Given the description of an element on the screen output the (x, y) to click on. 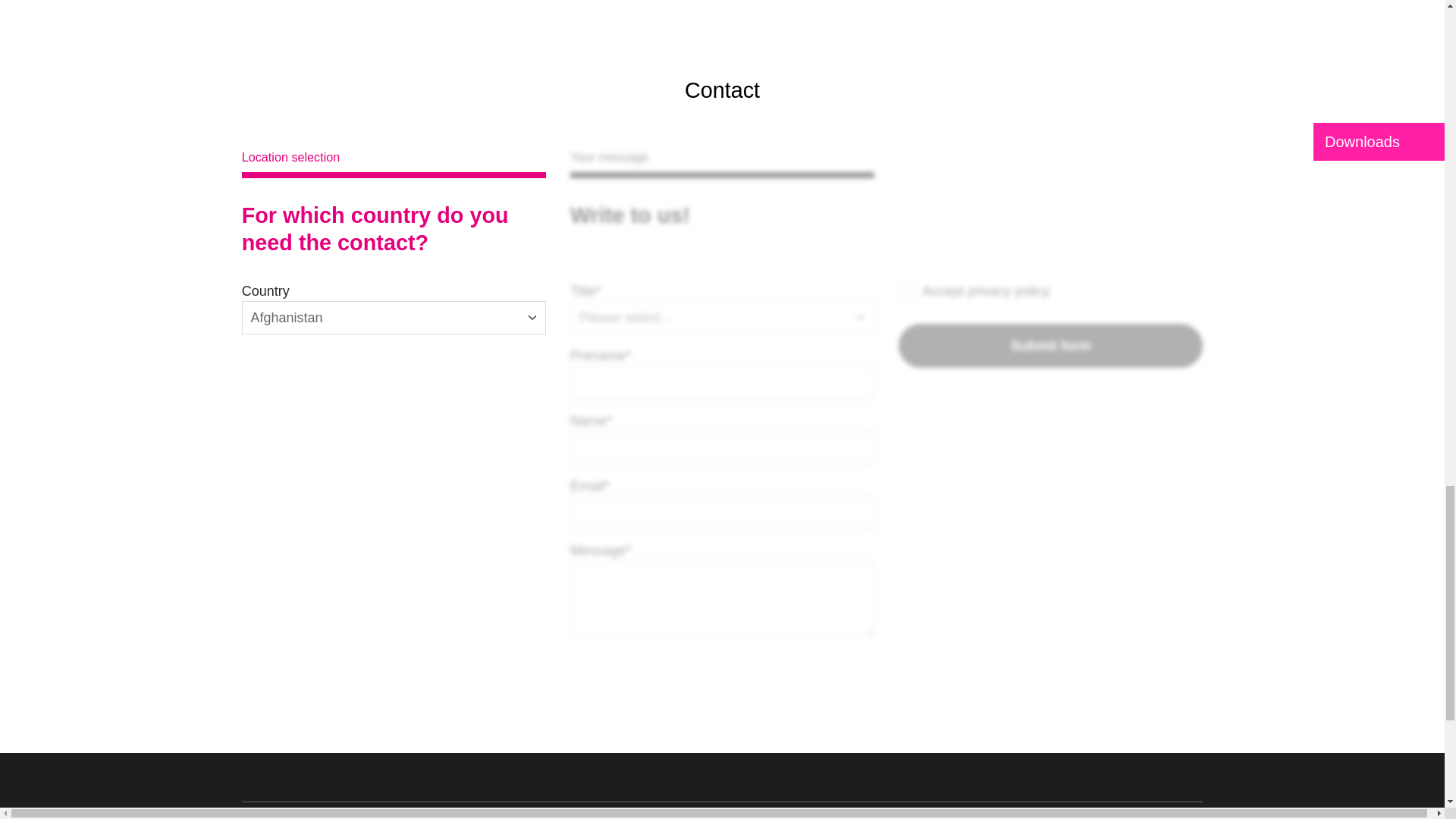
Submit form (1050, 345)
